Given the description of an element on the screen output the (x, y) to click on. 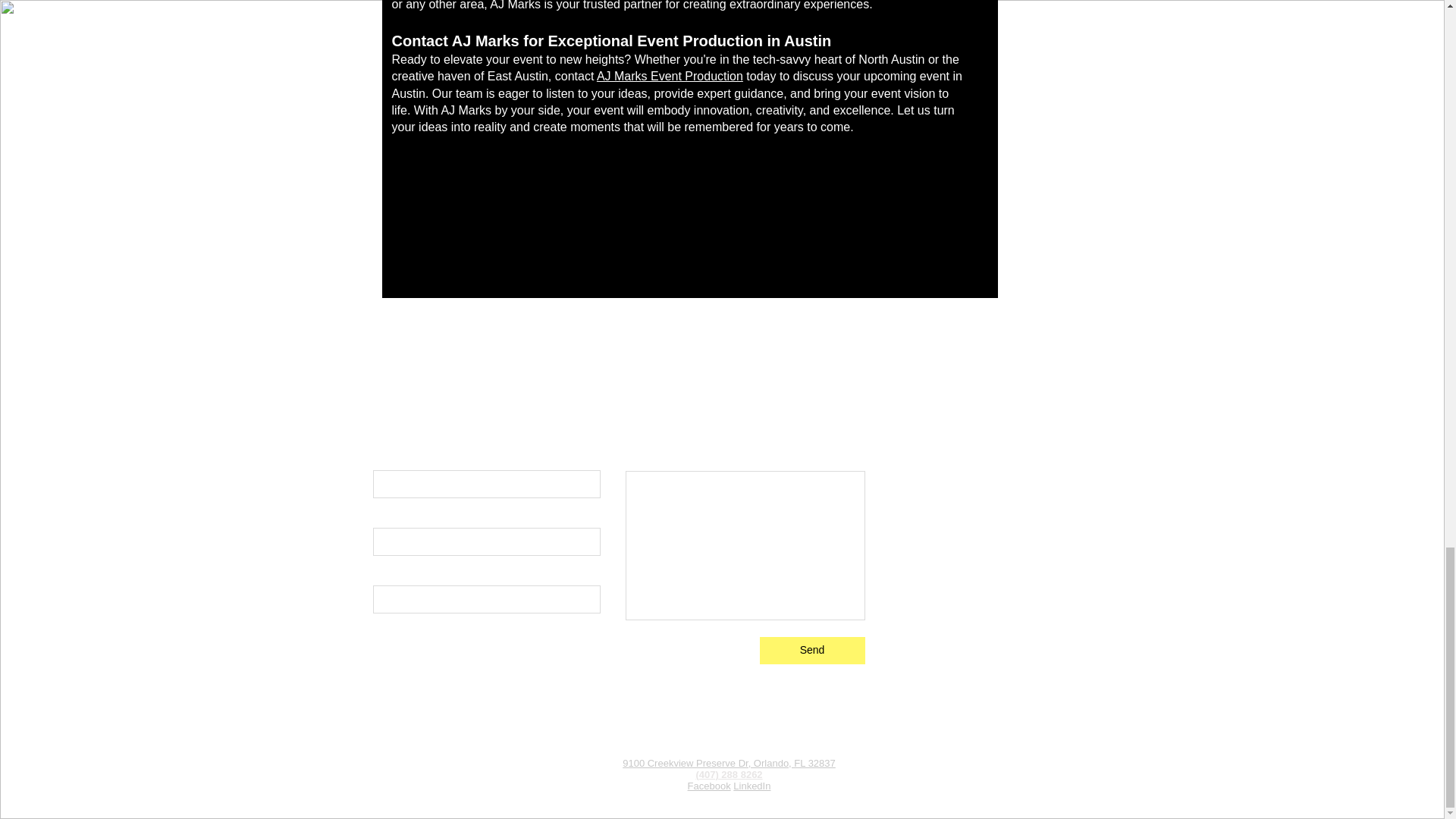
Facebook (708, 785)
Passion Loot (757, 797)
9100 Creekview Preserve Dr, Orlando, FL 32837 (729, 763)
Send (812, 650)
AJ Marks Event Production (669, 75)
LinkedIn (751, 785)
